Given the description of an element on the screen output the (x, y) to click on. 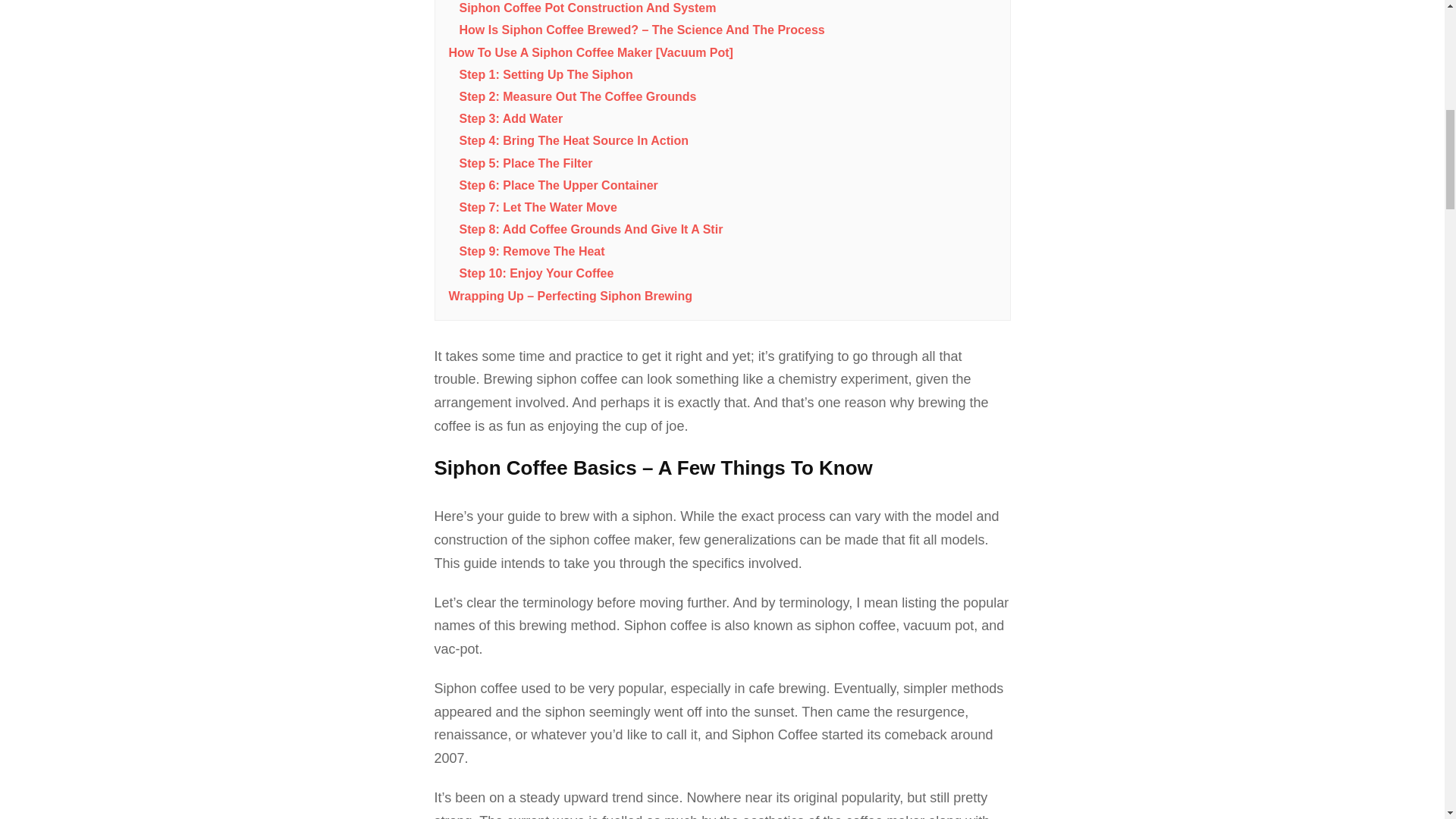
Scroll back to top (1406, 720)
